Given the description of an element on the screen output the (x, y) to click on. 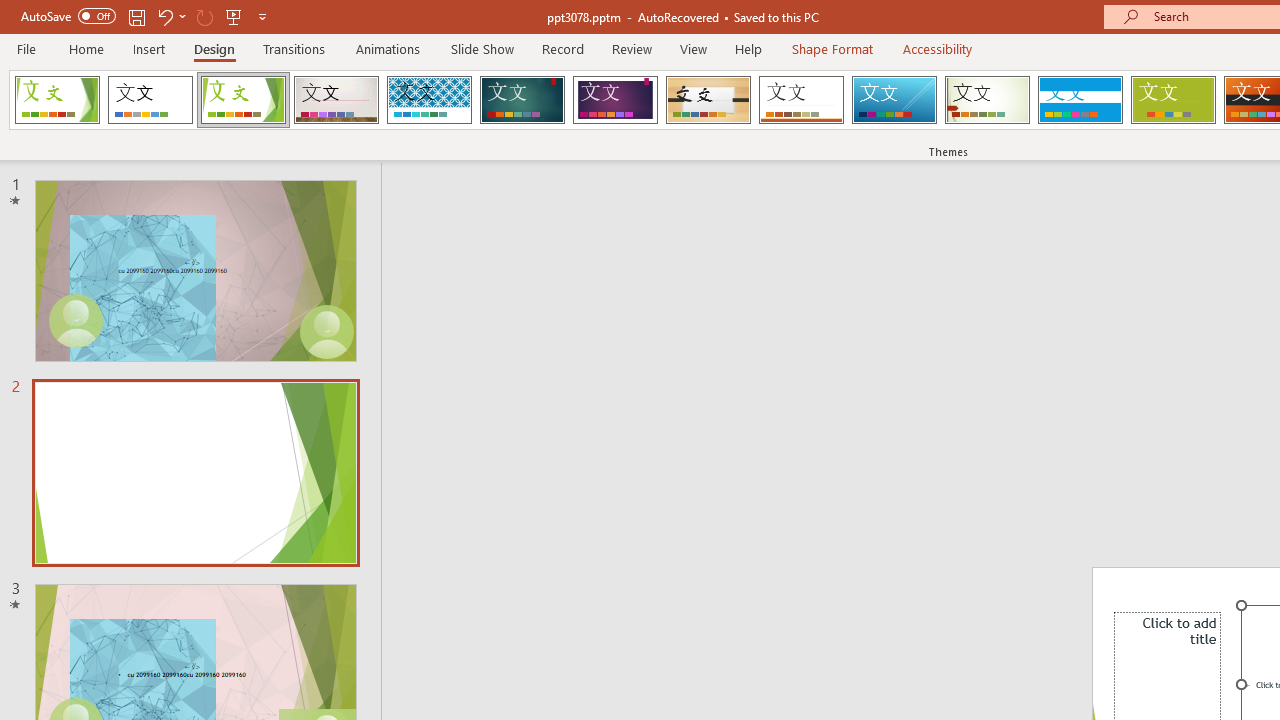
Wisp (987, 100)
Slice (893, 100)
Basis (1172, 100)
Banded (1080, 100)
